Given the description of an element on the screen output the (x, y) to click on. 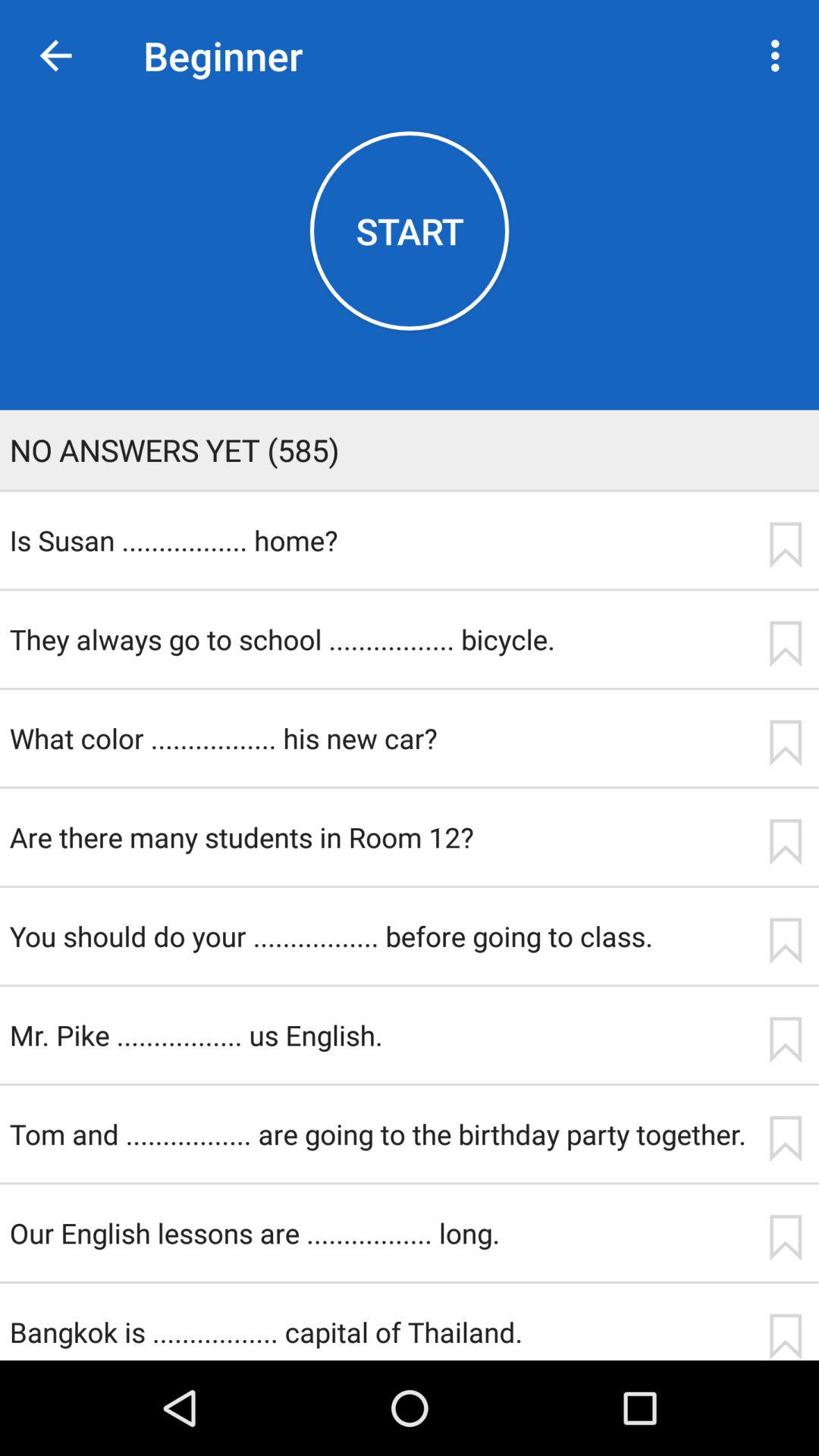
save answer (784, 1237)
